Given the description of an element on the screen output the (x, y) to click on. 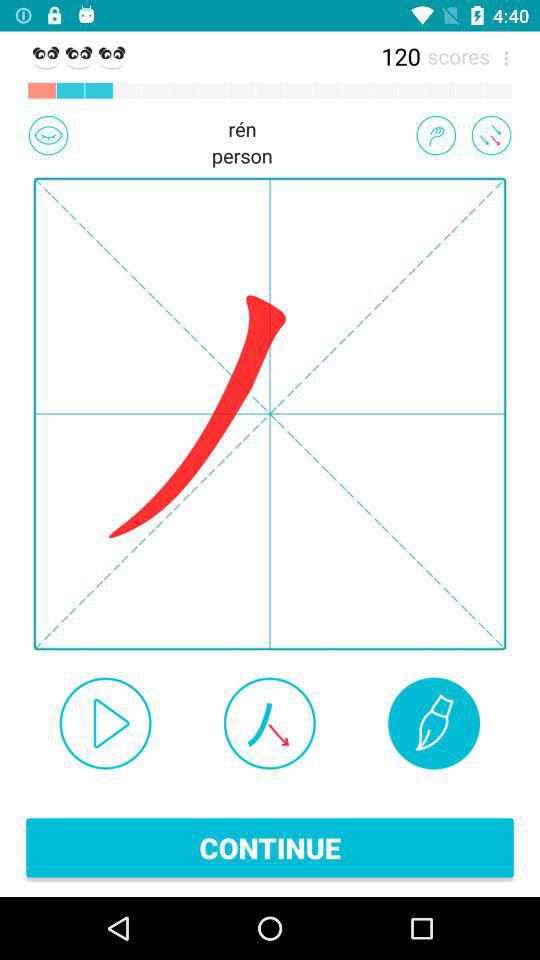
open the icon above the continue (269, 723)
